Given the description of an element on the screen output the (x, y) to click on. 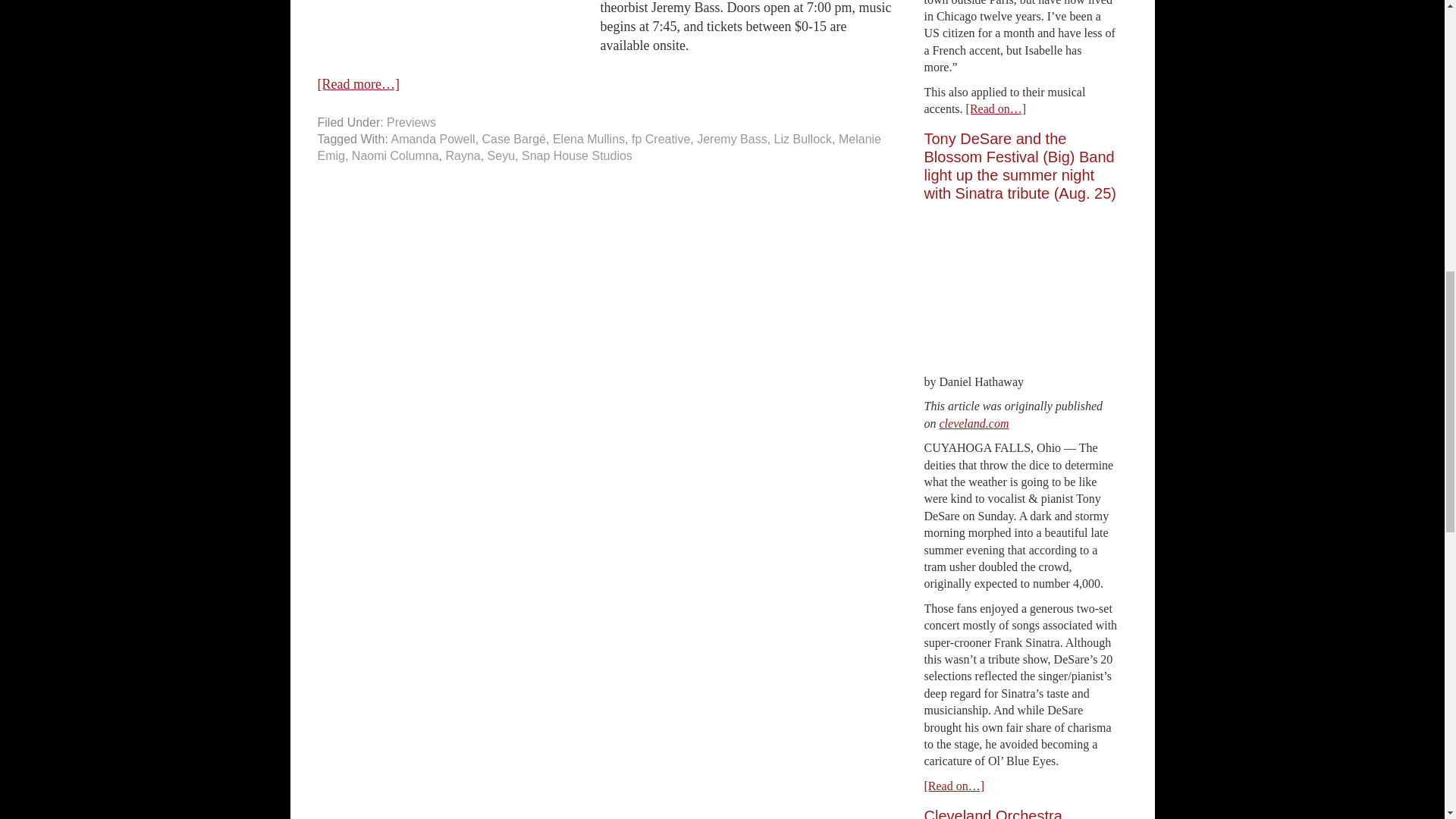
Snap House Studios (576, 155)
Previews (411, 122)
cleveland.com (974, 422)
Melanie Emig (598, 147)
Rayna (462, 155)
Naomi Columna (395, 155)
Jeremy Bass (732, 138)
Elena Mullins (588, 138)
Liz Bullock (802, 138)
Amanda Powell (432, 138)
